Given the description of an element on the screen output the (x, y) to click on. 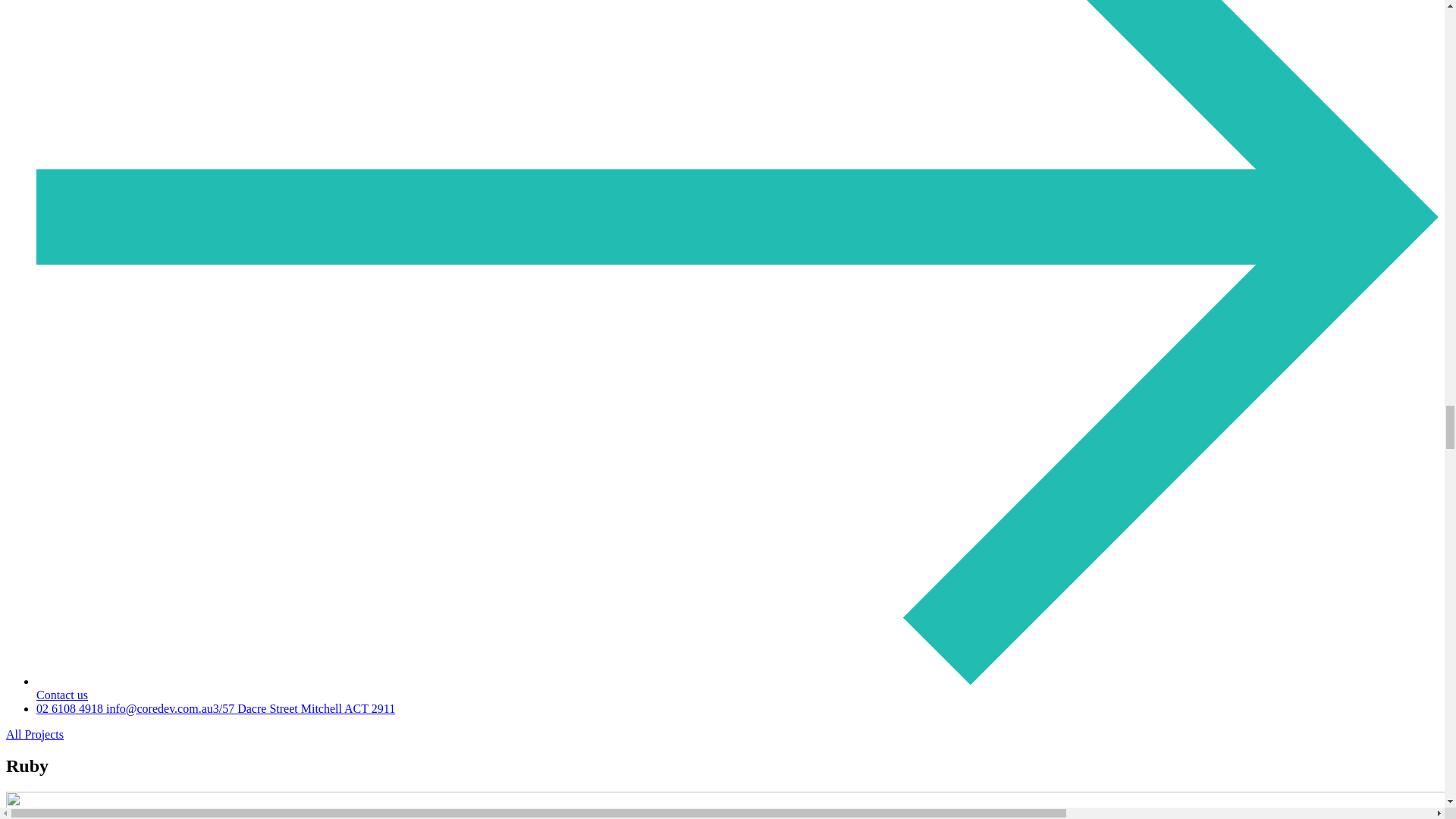
All Projects (34, 734)
Contact us (737, 687)
02 6108 4918 (71, 707)
